Given the description of an element on the screen output the (x, y) to click on. 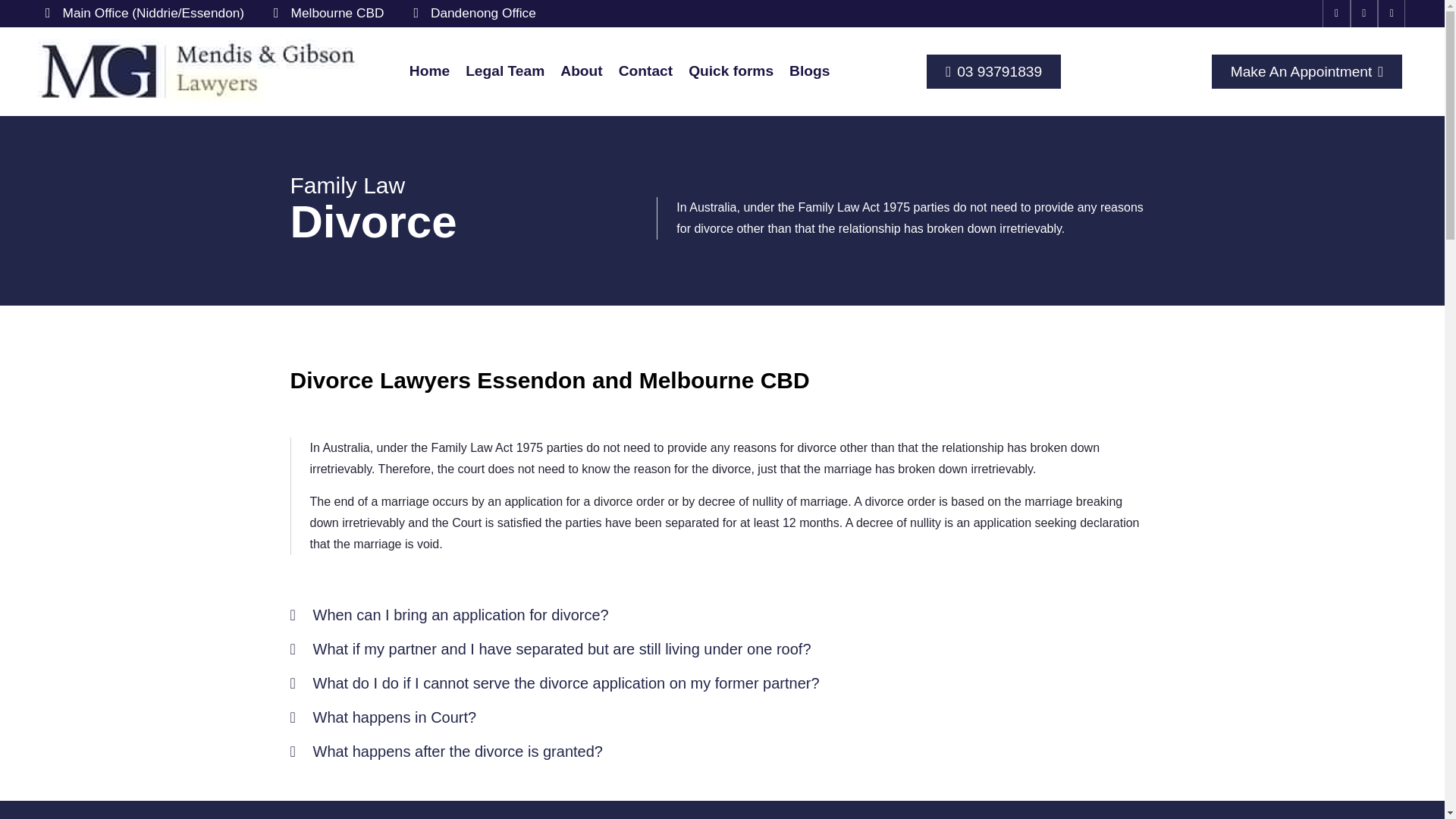
Make An Appointment (1307, 71)
03 93791839 (993, 71)
Quick forms (730, 70)
Legal Team (504, 70)
